Given the description of an element on the screen output the (x, y) to click on. 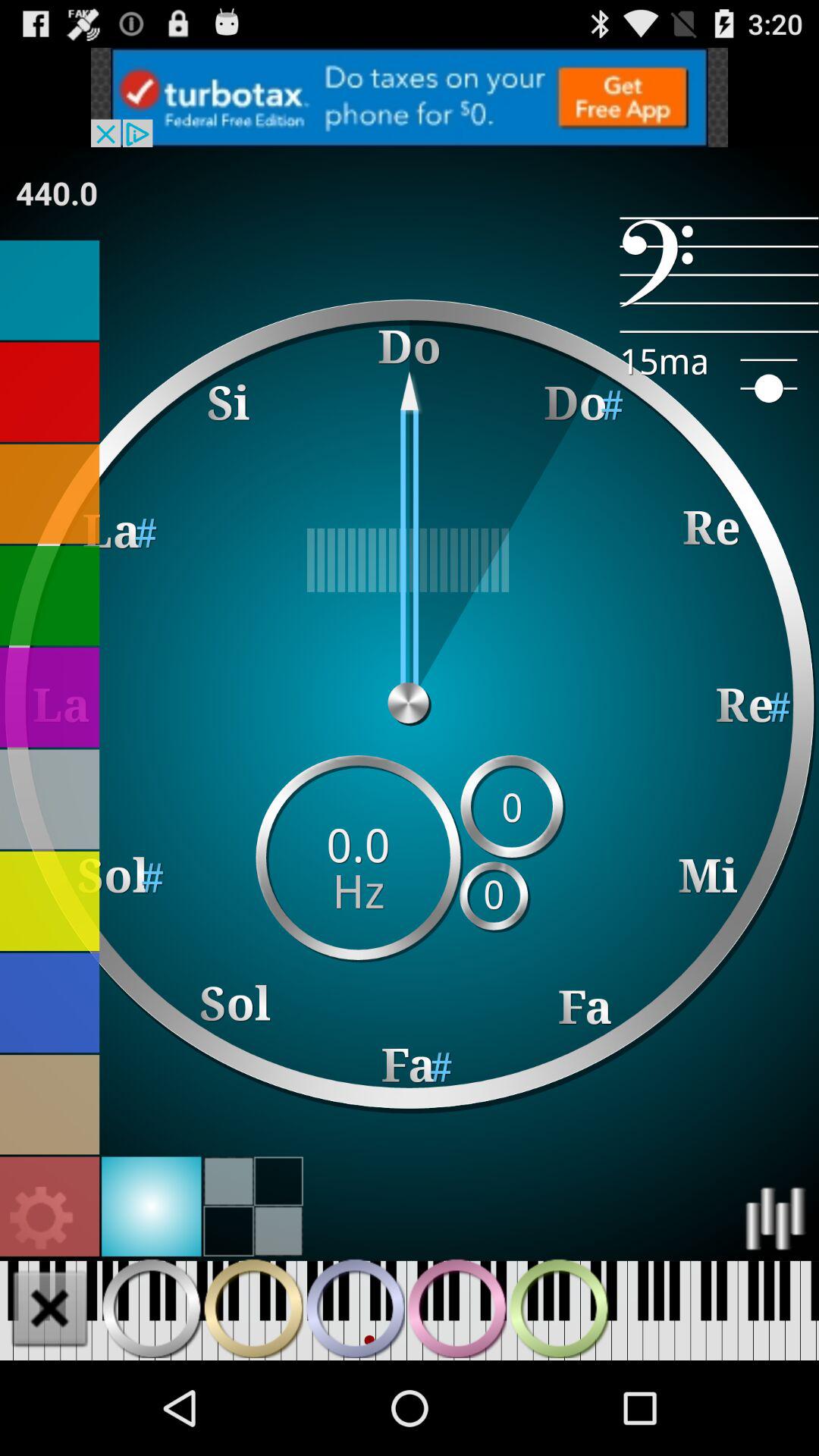
change background to yellow (49, 900)
